Given the description of an element on the screen output the (x, y) to click on. 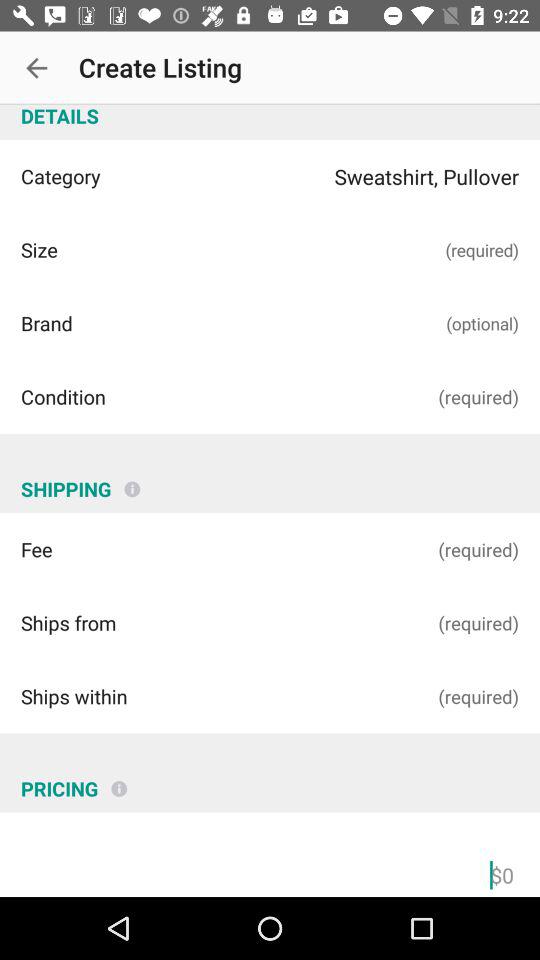
choose the icon to the right of pricing (119, 781)
